Given the description of an element on the screen output the (x, y) to click on. 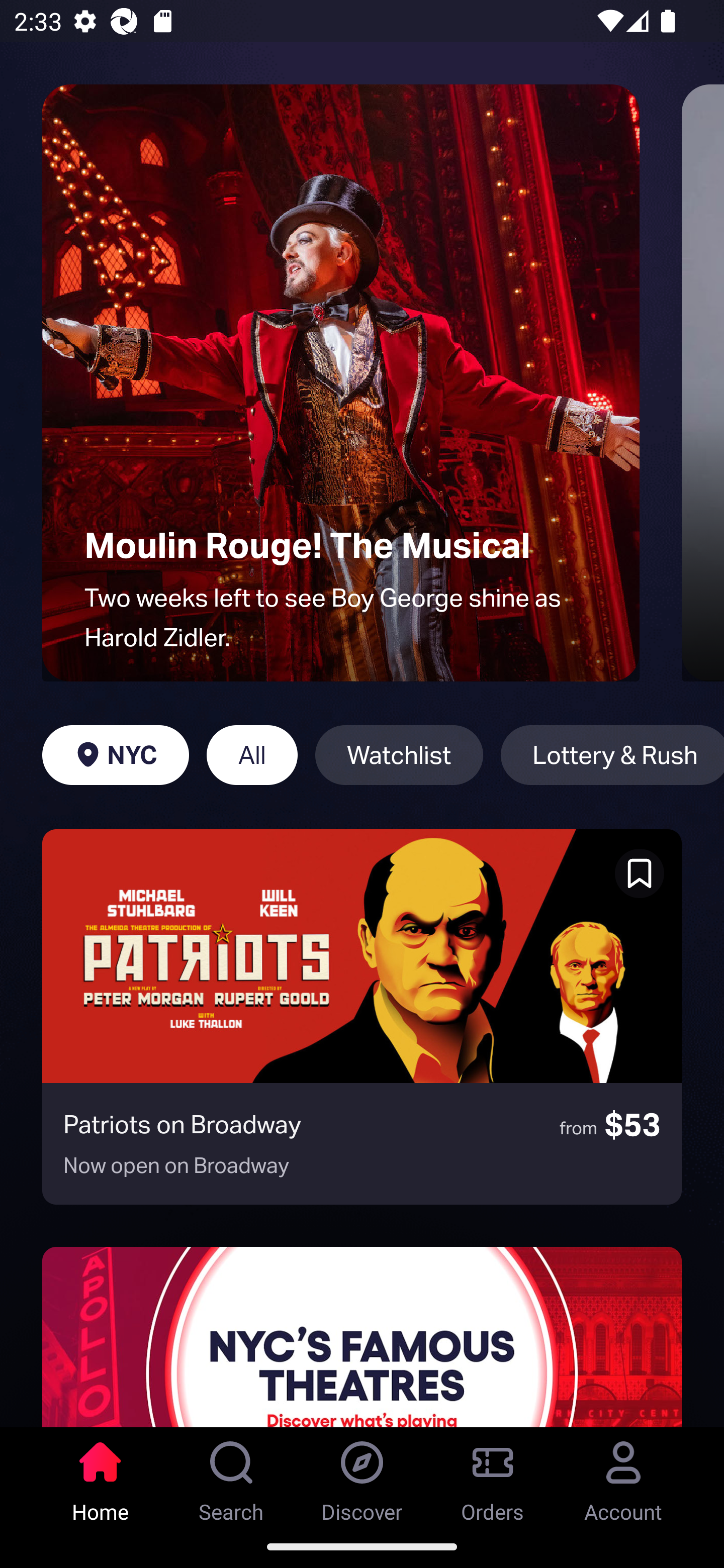
NYC (114, 754)
All (251, 754)
Watchlist (398, 754)
Lottery & Rush (612, 754)
Patriots on Broadway from $53 Now open on Broadway (361, 1016)
Search (230, 1475)
Discover (361, 1475)
Orders (492, 1475)
Account (623, 1475)
